Given the description of an element on the screen output the (x, y) to click on. 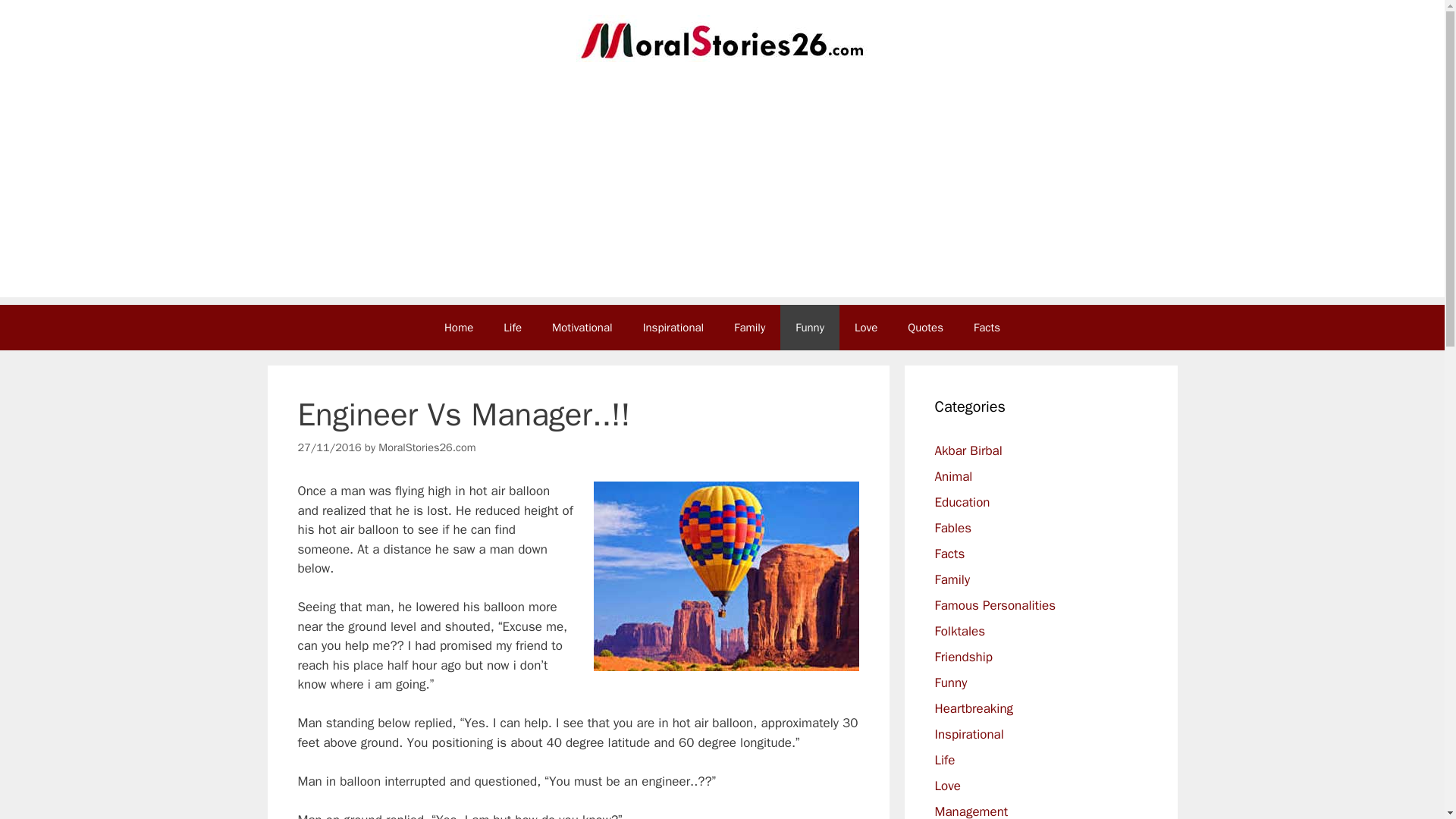
Management (970, 811)
Facts (986, 327)
View all posts by MoralStories26.com (427, 447)
Motivational (582, 327)
Education (962, 502)
Funny (810, 327)
Home (458, 327)
Folktales (959, 631)
MoralStories26.com (427, 447)
Life (512, 327)
Akbar Birbal (967, 450)
Funny (950, 682)
Love (946, 785)
Inspirational (968, 734)
